Given the description of an element on the screen output the (x, y) to click on. 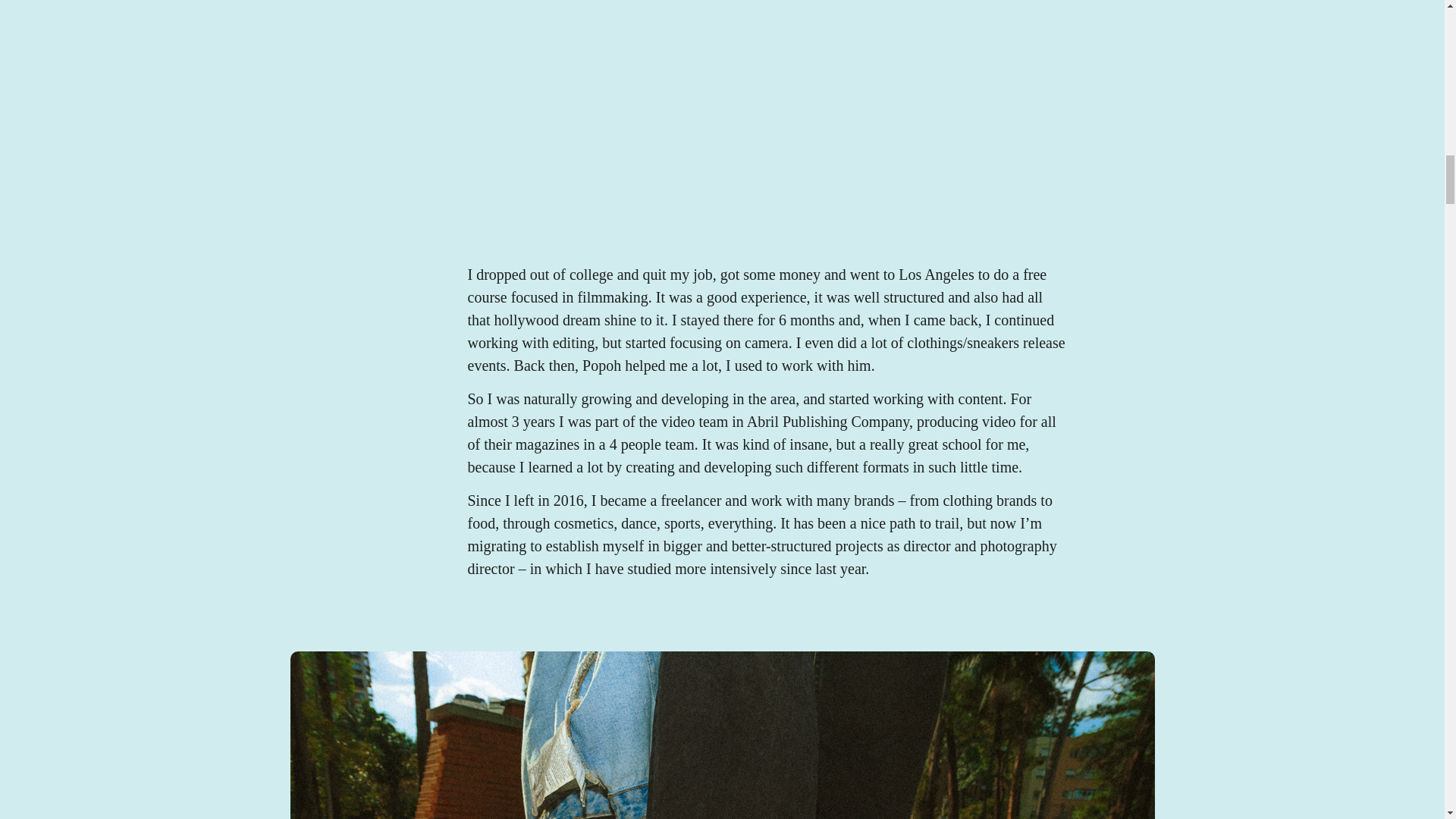
Kickstory: Puma Rider (721, 93)
